Given the description of an element on the screen output the (x, y) to click on. 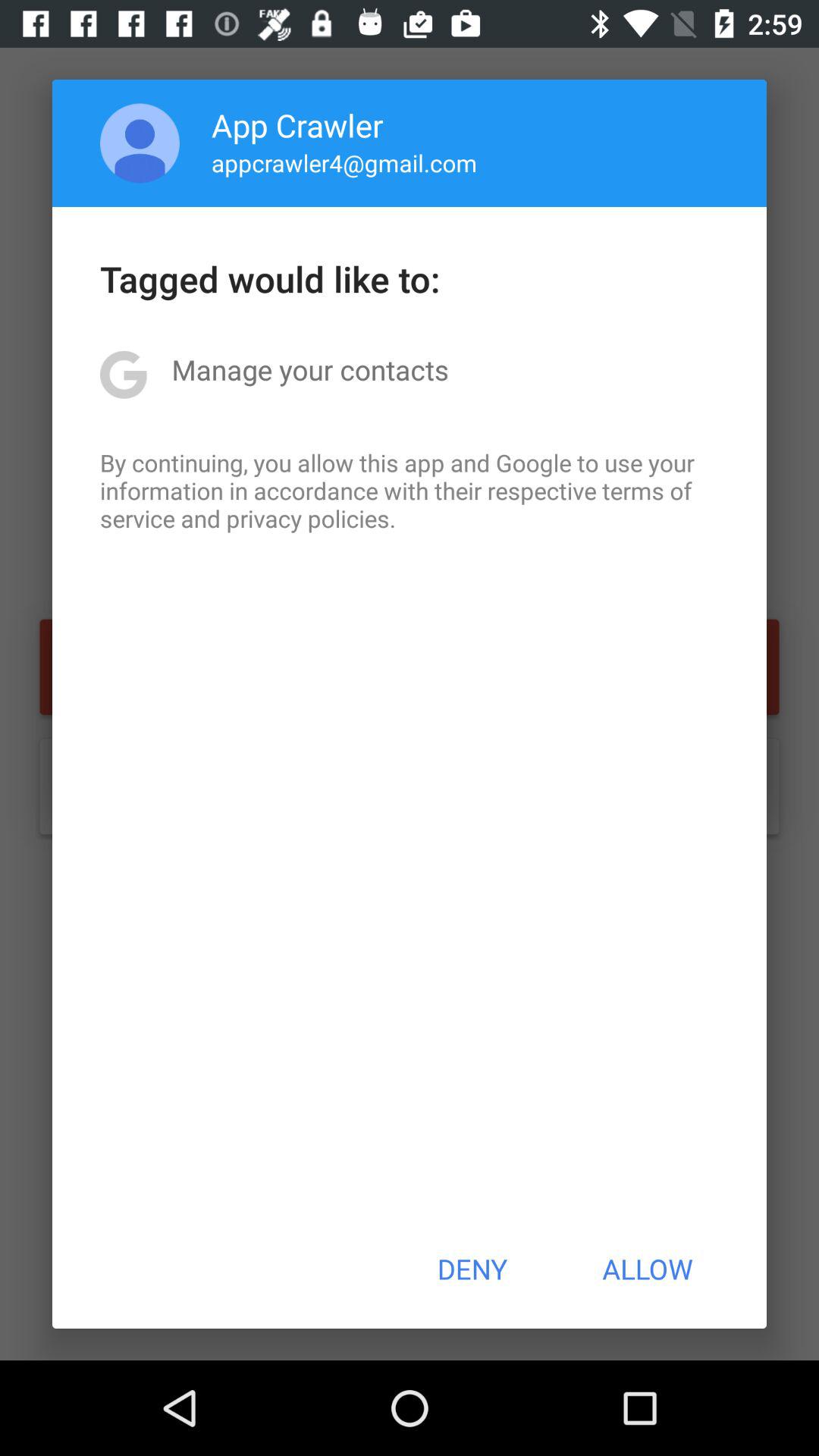
tap appcrawler4@gmail.com icon (344, 162)
